Given the description of an element on the screen output the (x, y) to click on. 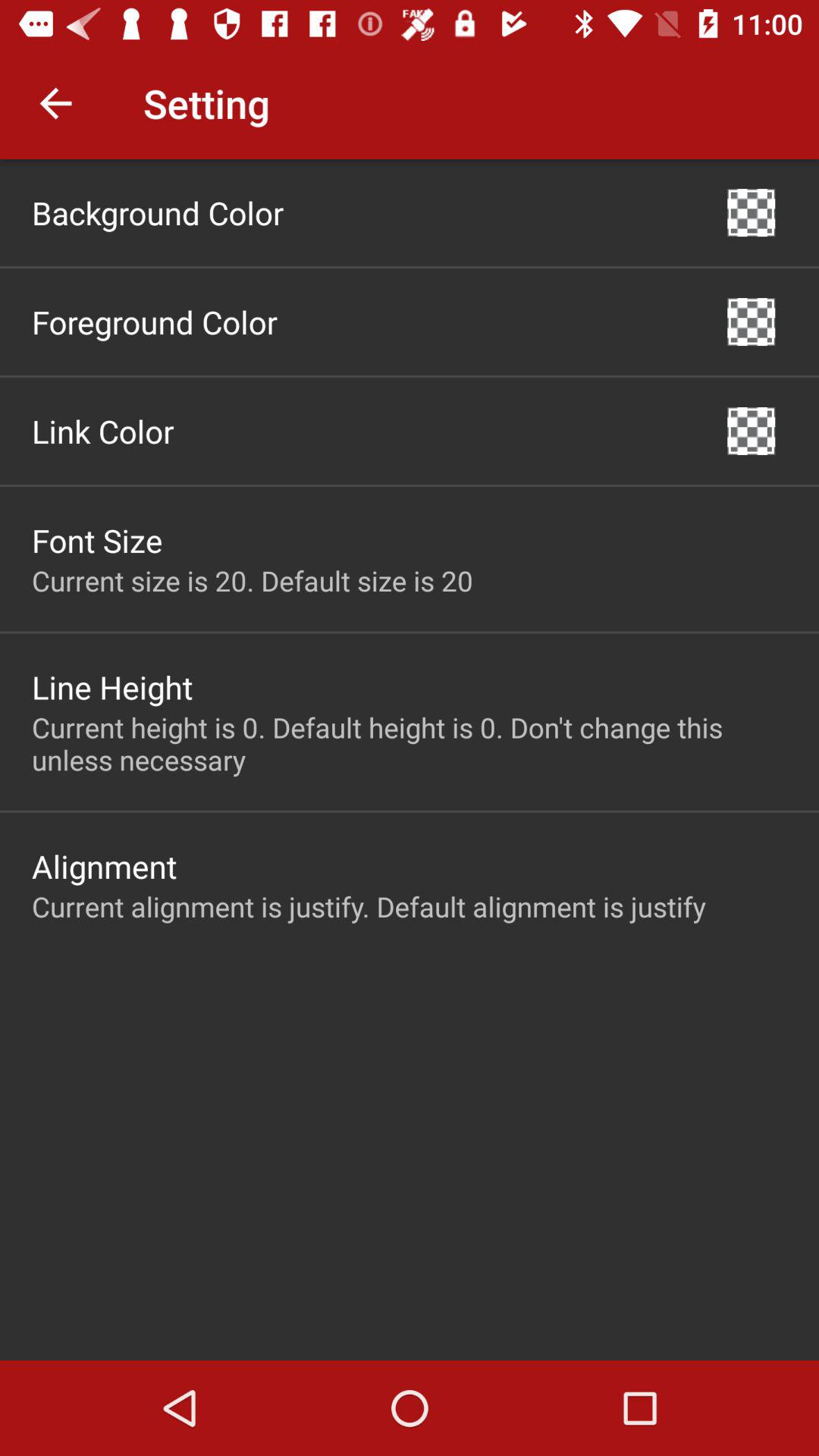
turn off item to the right of the link color icon (751, 431)
